Given the description of an element on the screen output the (x, y) to click on. 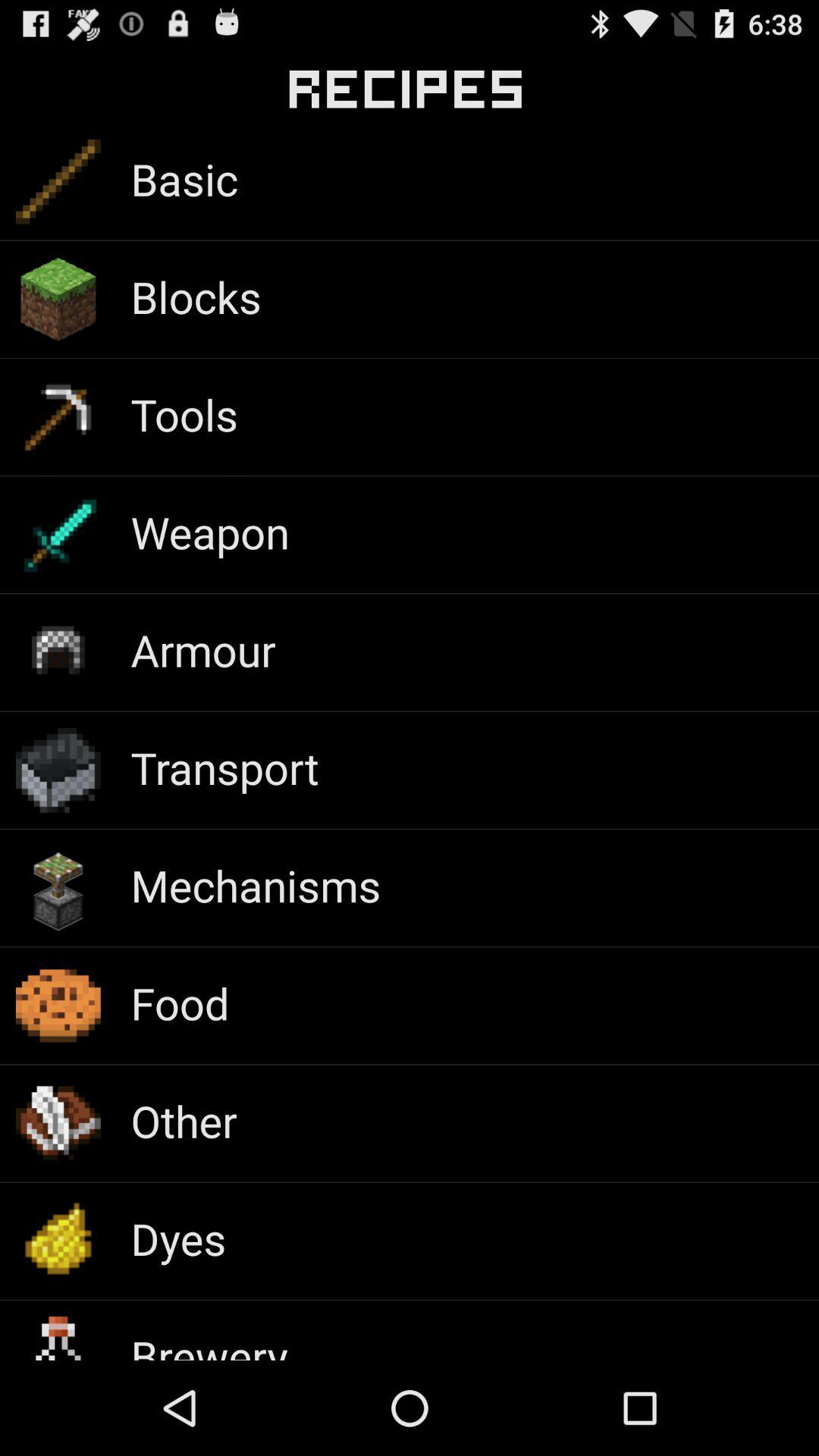
choose weapon item (209, 531)
